Given the description of an element on the screen output the (x, y) to click on. 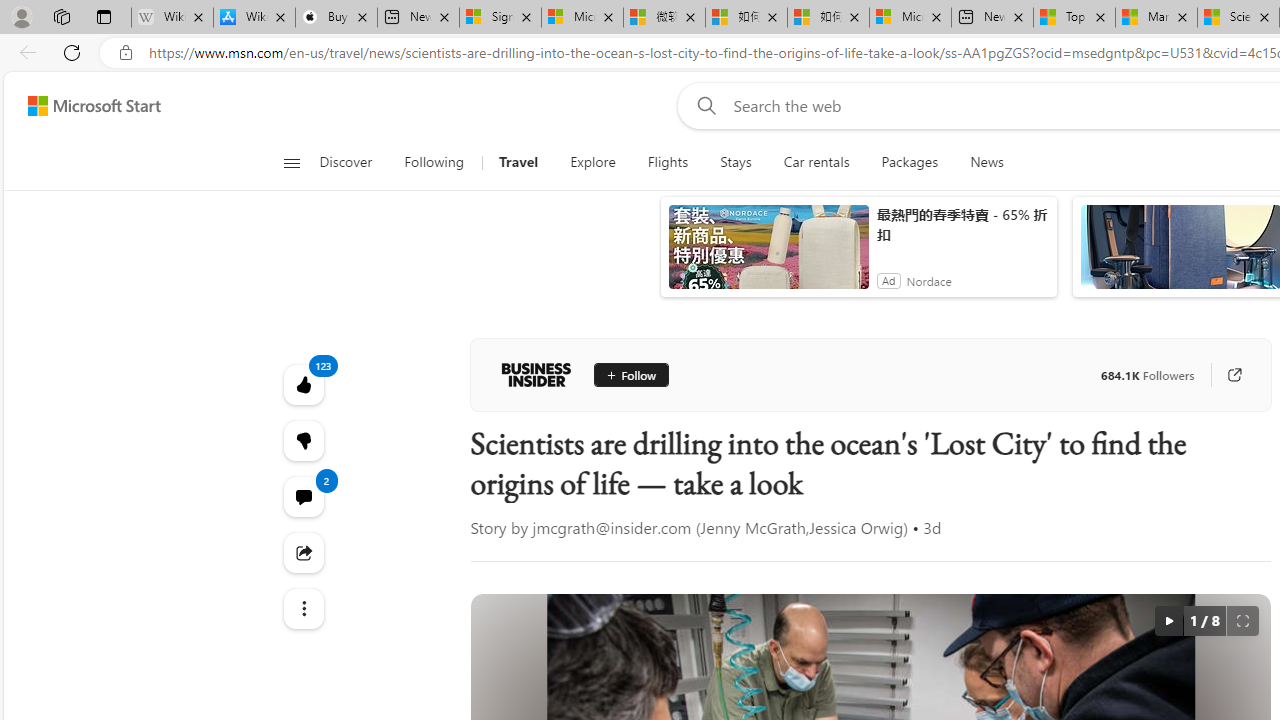
Travel (518, 162)
Go to publisher's site (1234, 374)
Microsoft account | Account Checkup (910, 17)
Dislike (302, 440)
Class: at-item (302, 609)
Business Insider (536, 374)
Sign in to your Microsoft account (500, 17)
Share this story (302, 552)
123 Like (302, 384)
Explore (592, 162)
